Given the description of an element on the screen output the (x, y) to click on. 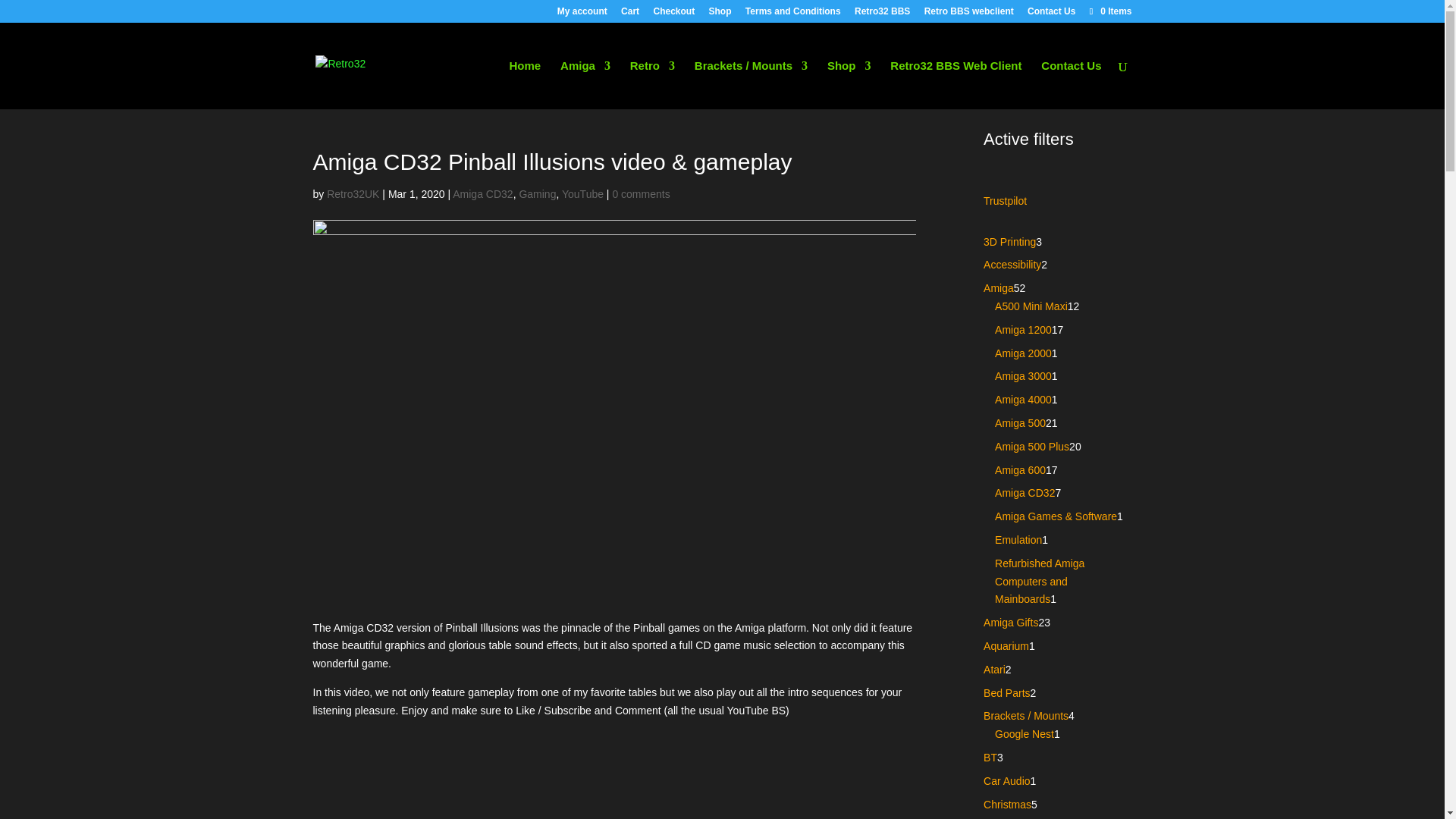
Checkout (673, 14)
Retro (652, 84)
Retro BBS webclient (968, 14)
Cart (630, 14)
Terms and Conditions (793, 14)
Amiga (585, 84)
My account (582, 14)
Posts by Retro32UK (352, 193)
Retro32 BBS (882, 14)
Home (524, 84)
0 Items (1108, 10)
Contact Us (1051, 14)
Shop (718, 14)
